Given the description of an element on the screen output the (x, y) to click on. 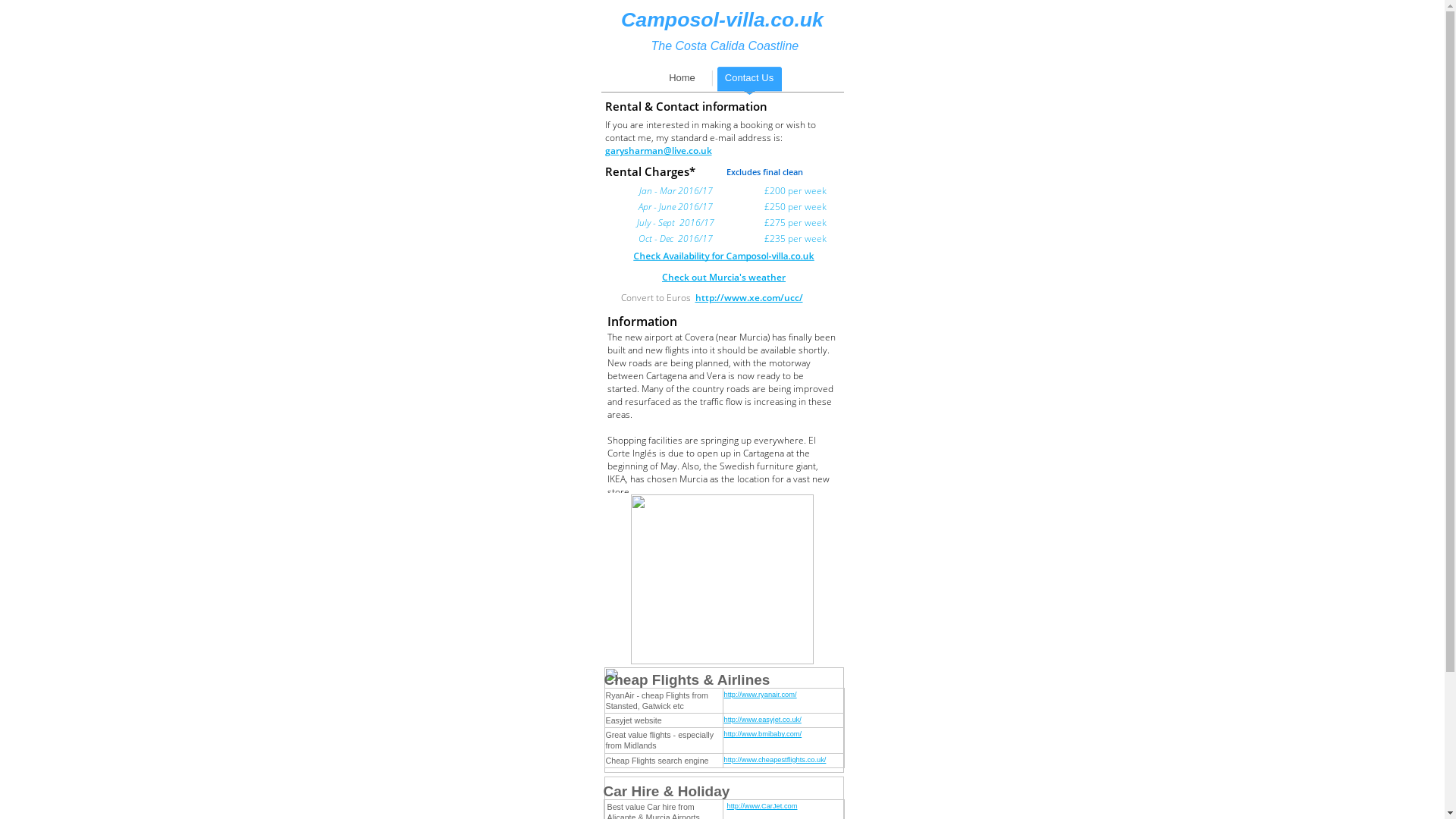
Home Element type: text (681, 80)
http://www.xe.com/ucc/ Element type: text (748, 297)
http://www.ryanair.com/ Element type: text (759, 694)
http://www.CarJet.com Element type: text (761, 805)
http://www.bmibaby.com/ Element type: text (762, 733)
Check out Murcia's weather Element type: text (723, 276)
garysharman@live.co.uk Element type: text (658, 150)
http://www.easyjet.co.uk/ Element type: text (761, 719)
http://www.cheapestflights.co.uk/ Element type: text (774, 759)
Contact Us Element type: text (749, 80)
